Given the description of an element on the screen output the (x, y) to click on. 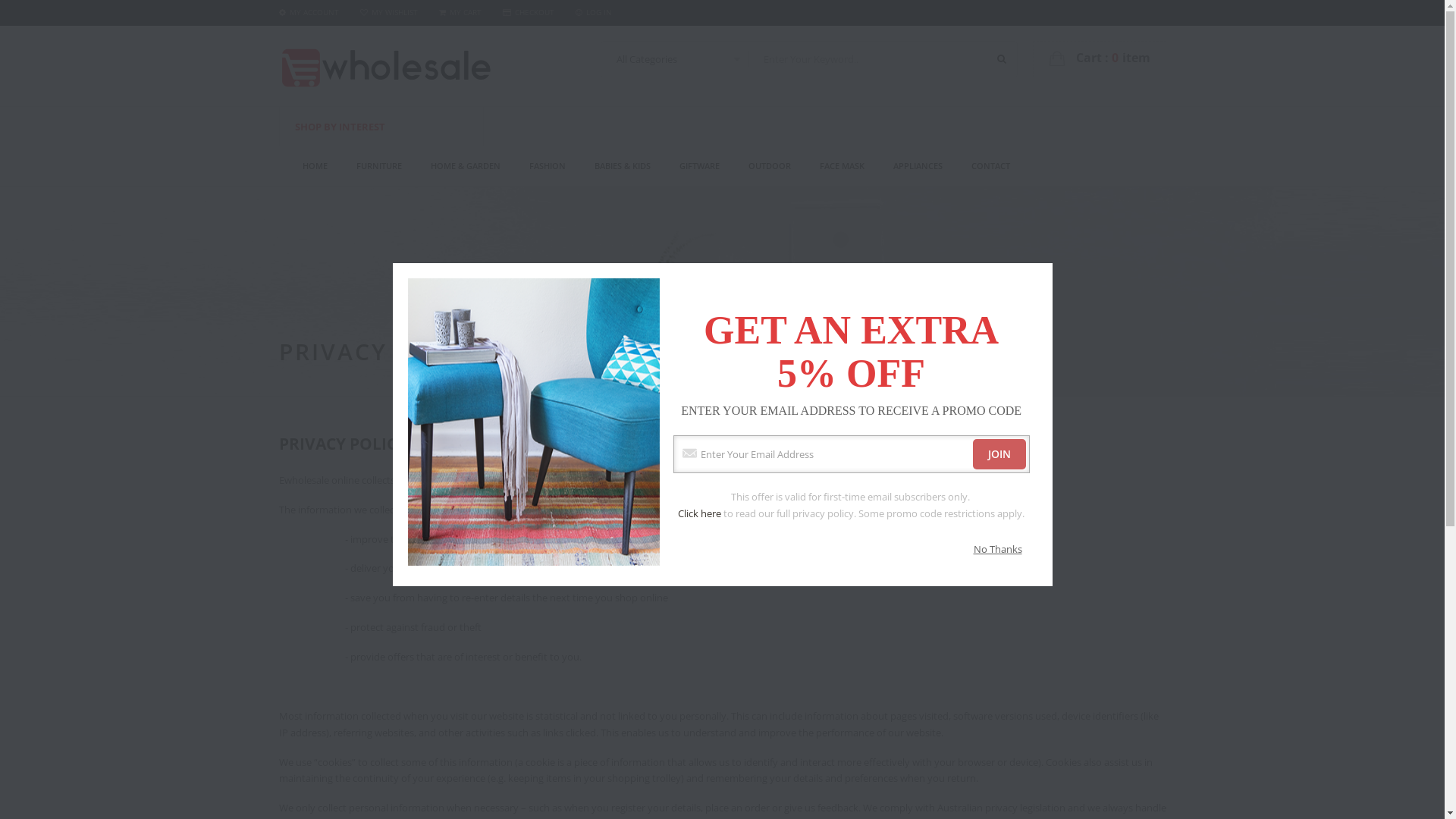
MY ACCOUNT Element type: text (308, 11)
HOME Element type: text (314, 165)
CONTACT Element type: text (989, 165)
LOG IN Element type: text (592, 11)
ewholesale online shopping Element type: hover (385, 64)
Search Element type: hover (1000, 58)
MY CART Element type: text (459, 11)
HOME & GARDEN Element type: text (465, 165)
Click here Element type: text (699, 513)
CHECKOUT Element type: text (527, 11)
0
item Element type: text (1130, 57)
FASHION Element type: text (547, 165)
OUTDOOR Element type: text (768, 165)
APPLIANCES Element type: text (917, 165)
FURNITURE Element type: text (378, 165)
BABIES & KIDS Element type: text (622, 165)
GIFTWARE Element type: text (699, 165)
FACE MASK Element type: text (841, 165)
Enter Your Email Address Element type: text (851, 454)
JOIN Element type: text (998, 454)
MY WISHLIST Element type: text (388, 11)
